Given the description of an element on the screen output the (x, y) to click on. 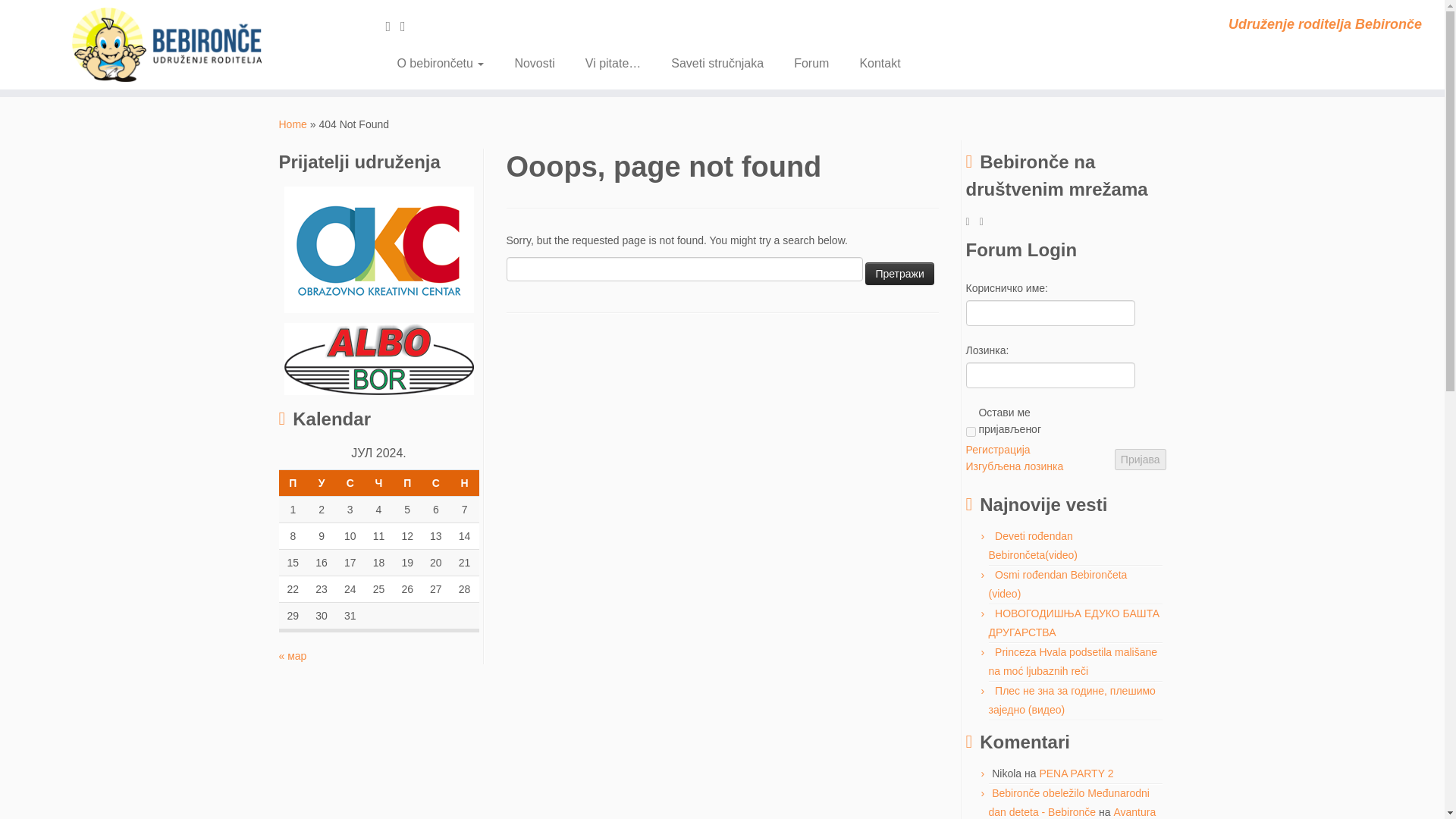
Subscribe to my rss feed (392, 26)
Kontakt (871, 62)
Albo (378, 358)
Obrazovno kreativni centar (378, 249)
Forum (811, 62)
Follow me on Facebook (407, 26)
PENA PARTY 2 (1076, 773)
forever (970, 431)
Novosti (534, 62)
Home (293, 123)
